Given the description of an element on the screen output the (x, y) to click on. 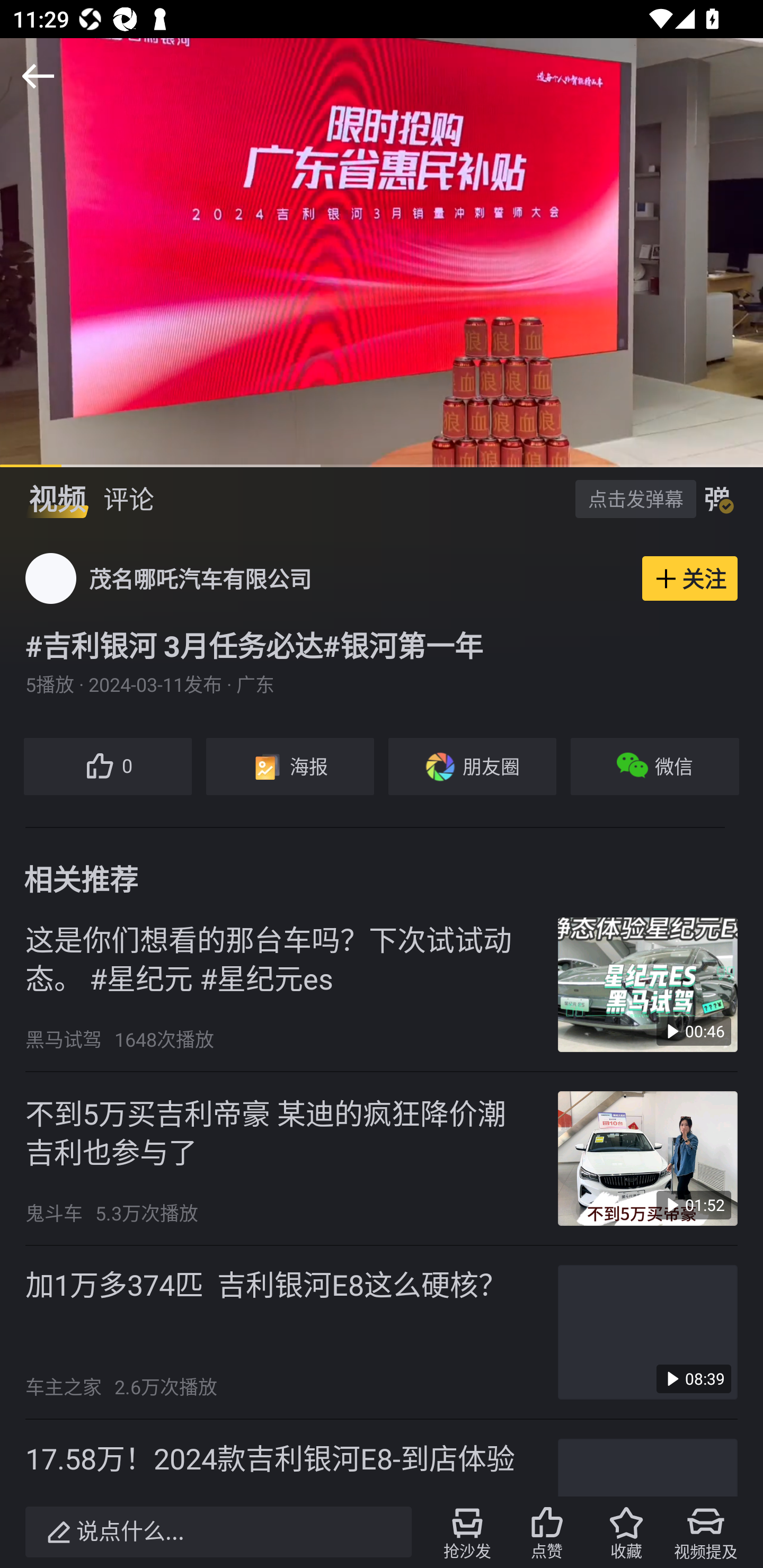
8.0 (381, 252)
 (38, 75)
视频 (57, 499)
评论 (128, 499)
点击发弹幕 (635, 498)
 关注 (689, 578)
茂名哪吒汽车有限公司 (200, 578)
#吉利银河 3月任务必达#银河第一年 (381, 644)
0 (107, 766)
海报 (289, 766)
朋友圈 (472, 766)
微信 (654, 766)
不到5万买吉利帝豪 某迪的疯狂降价潮 吉利也参与了 鬼斗车 5.3万次播放  01:52 (381, 1159)
加1万多374匹  吉利银河E8这么硬核？ 车主之家 2.6万次播放  08:39 (381, 1332)
17.58万！2024款吉利银河E8-到店体验 (381, 1457)
 抢沙发 (467, 1531)
点赞 (546, 1531)
收藏 (625, 1531)
 视频提及 (705, 1531)
 说点什么... (218, 1531)
